Given the description of an element on the screen output the (x, y) to click on. 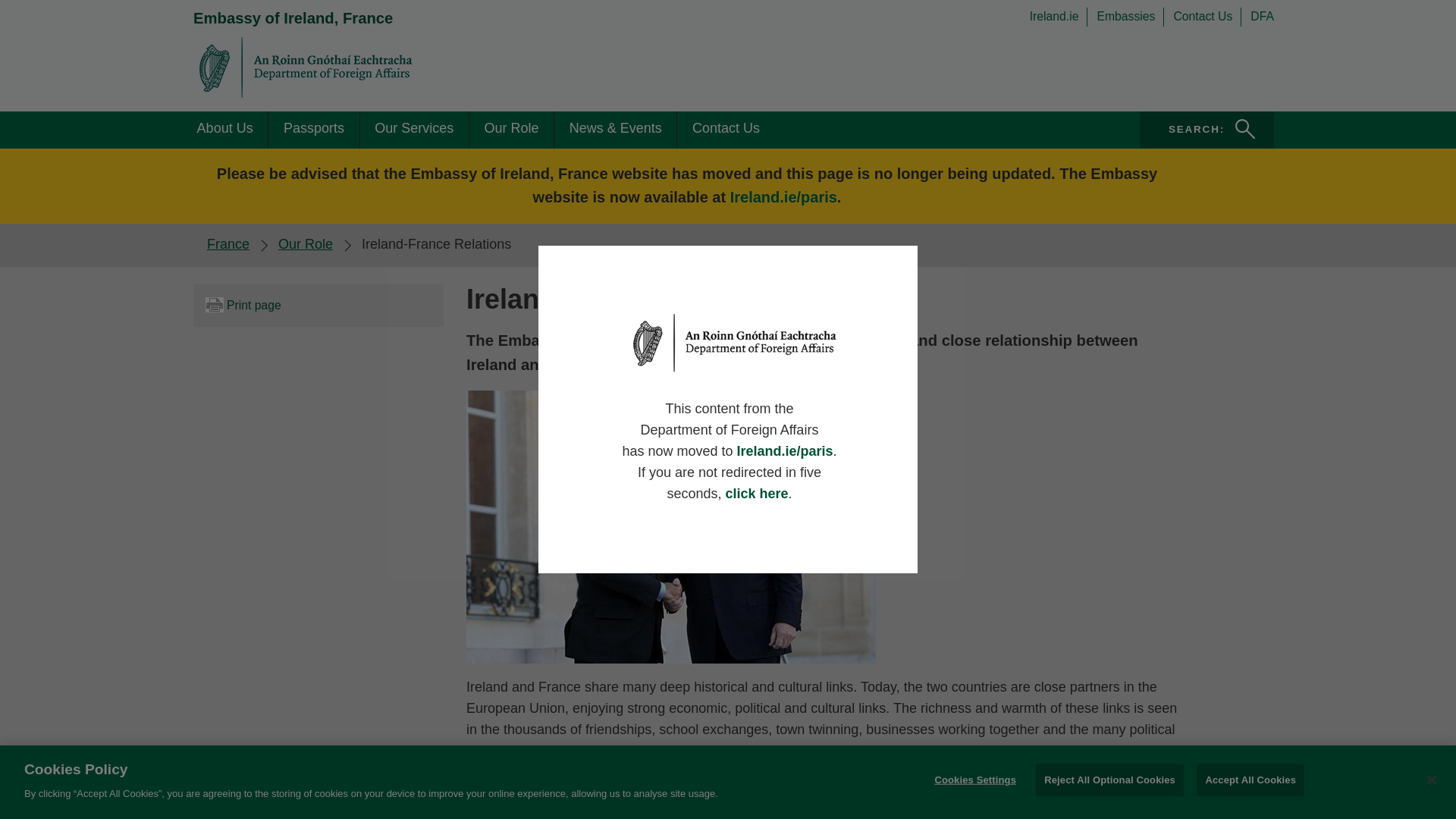
Contact Us (1206, 16)
Print page (317, 305)
DFA (1262, 16)
About Us (224, 129)
click here (756, 493)
Ireland.ie (1207, 129)
Embassies (1058, 16)
Our Role (1129, 16)
Embassy of Ireland, France (305, 243)
Embassies (293, 17)
Our Services (1129, 16)
Our Role (413, 129)
DFA home (510, 129)
